Given the description of an element on the screen output the (x, y) to click on. 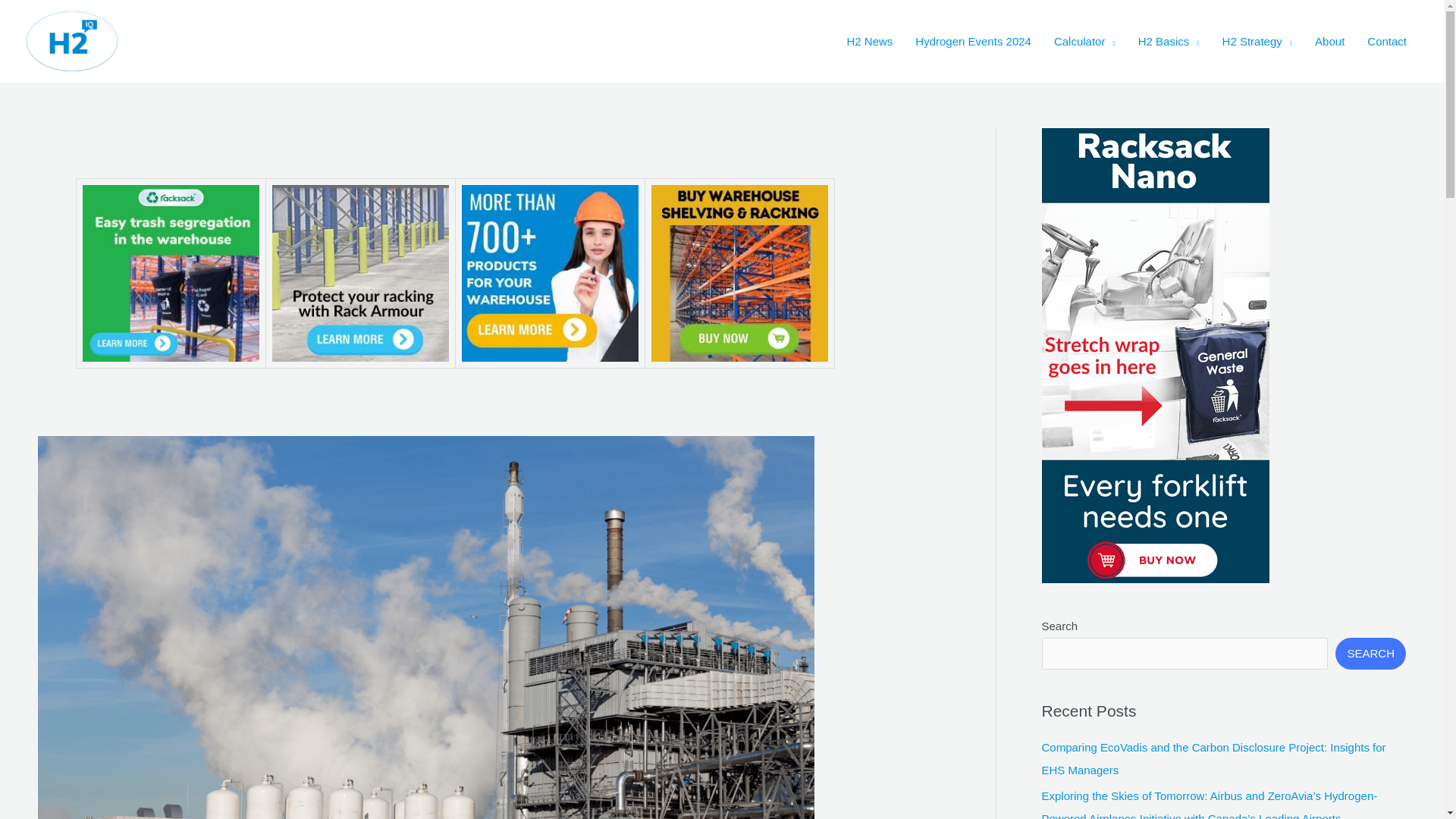
H2 News (869, 41)
Hydrogen Events 2024 (973, 41)
Contact (1386, 41)
About (1329, 41)
H2 Basics (1168, 41)
H2 Strategy (1257, 41)
Calculator (1084, 41)
